Given the description of an element on the screen output the (x, y) to click on. 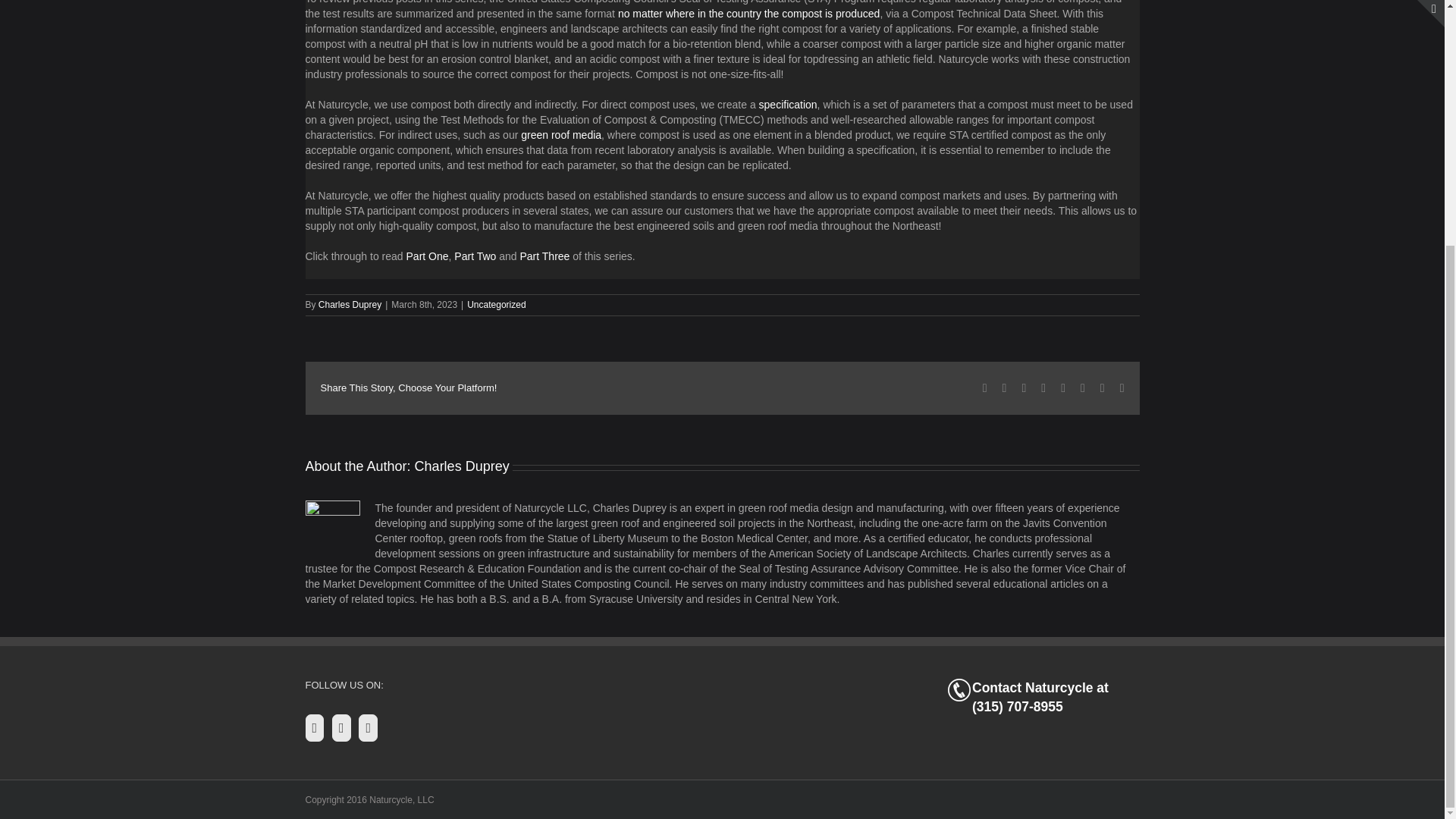
Posts by Charles Duprey (349, 304)
Posts by Charles Duprey (461, 466)
